Given the description of an element on the screen output the (x, y) to click on. 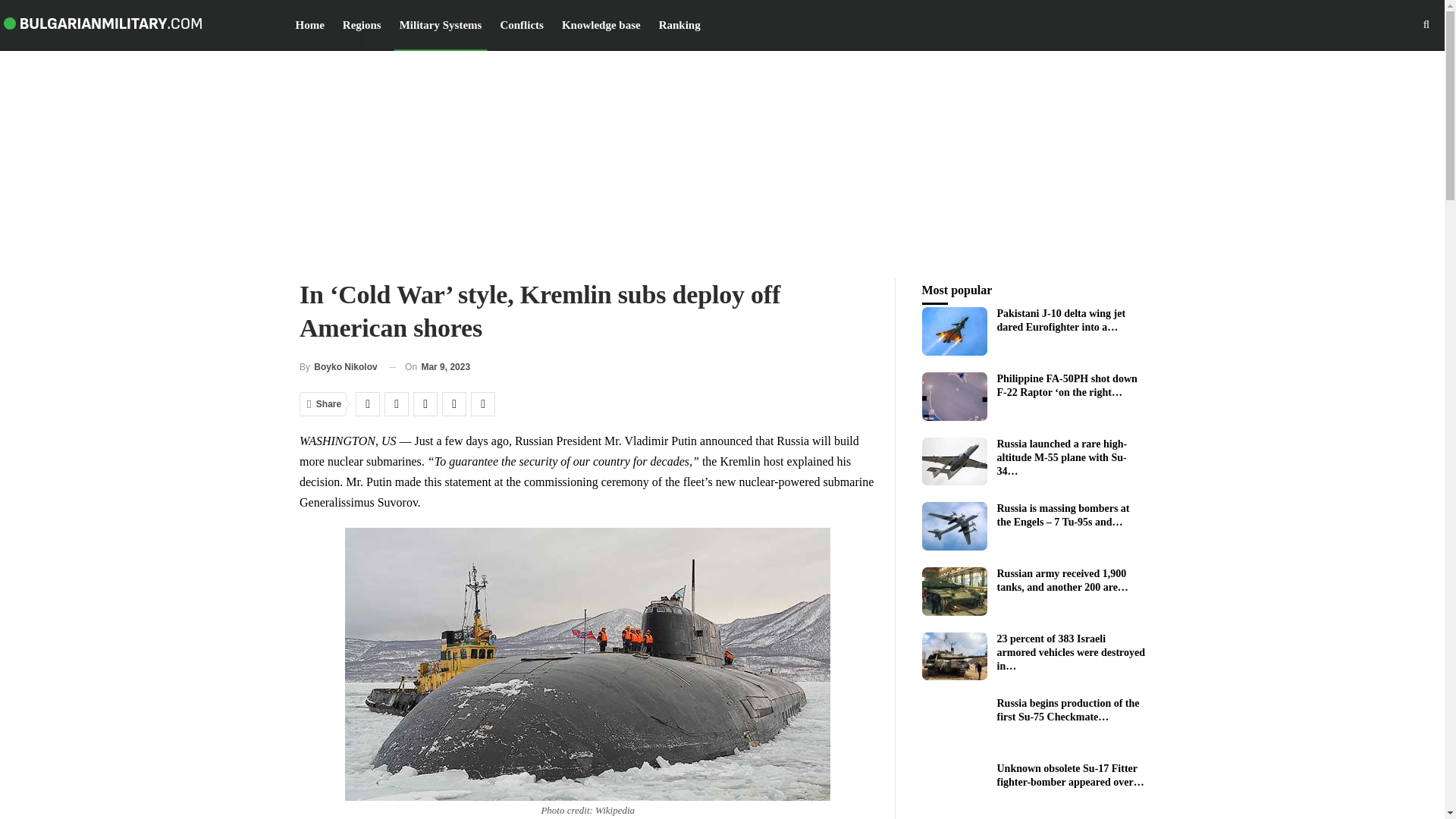
Ranking (679, 24)
Browse Author Articles (338, 367)
Regions (362, 24)
Knowledge base (601, 24)
Conflicts (521, 24)
Military Systems (440, 24)
By Boyko Nikolov (338, 367)
